Given the description of an element on the screen output the (x, y) to click on. 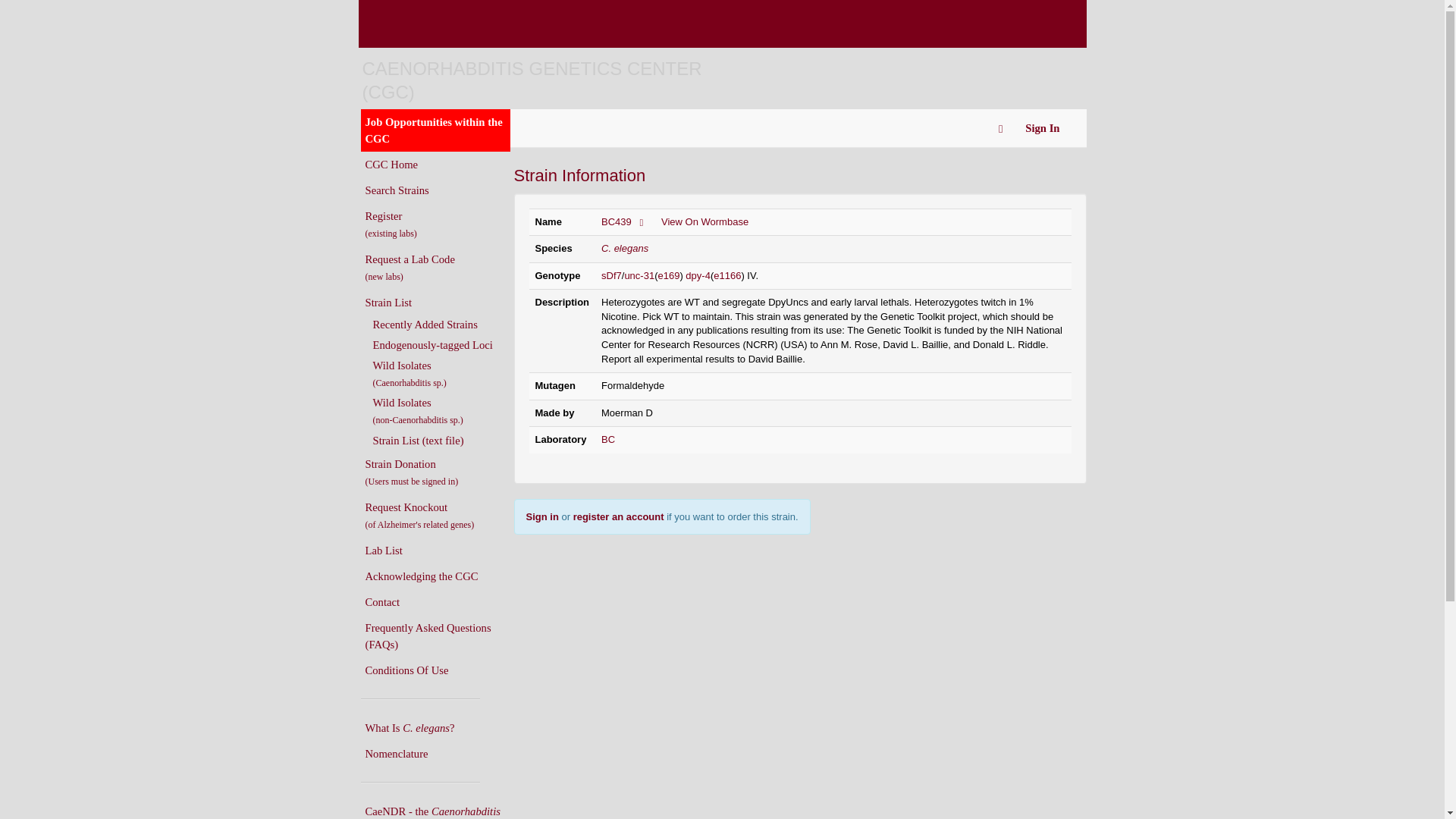
e1166 (727, 275)
Recently Added Strains (440, 324)
Nomenclature (436, 753)
Endogenously-tagged Loci (440, 344)
Sign in (542, 516)
e169 (668, 275)
Sign In (1041, 127)
Lab List (436, 550)
What Is C. elegans? (436, 727)
Contact (436, 601)
CaeNDR - the Caenorhabditis Natural Diversity Resource (436, 808)
Search Strains (436, 190)
View On Wormbase (704, 221)
Strain List (436, 302)
Go to the U of M home page (478, 23)
